Given the description of an element on the screen output the (x, y) to click on. 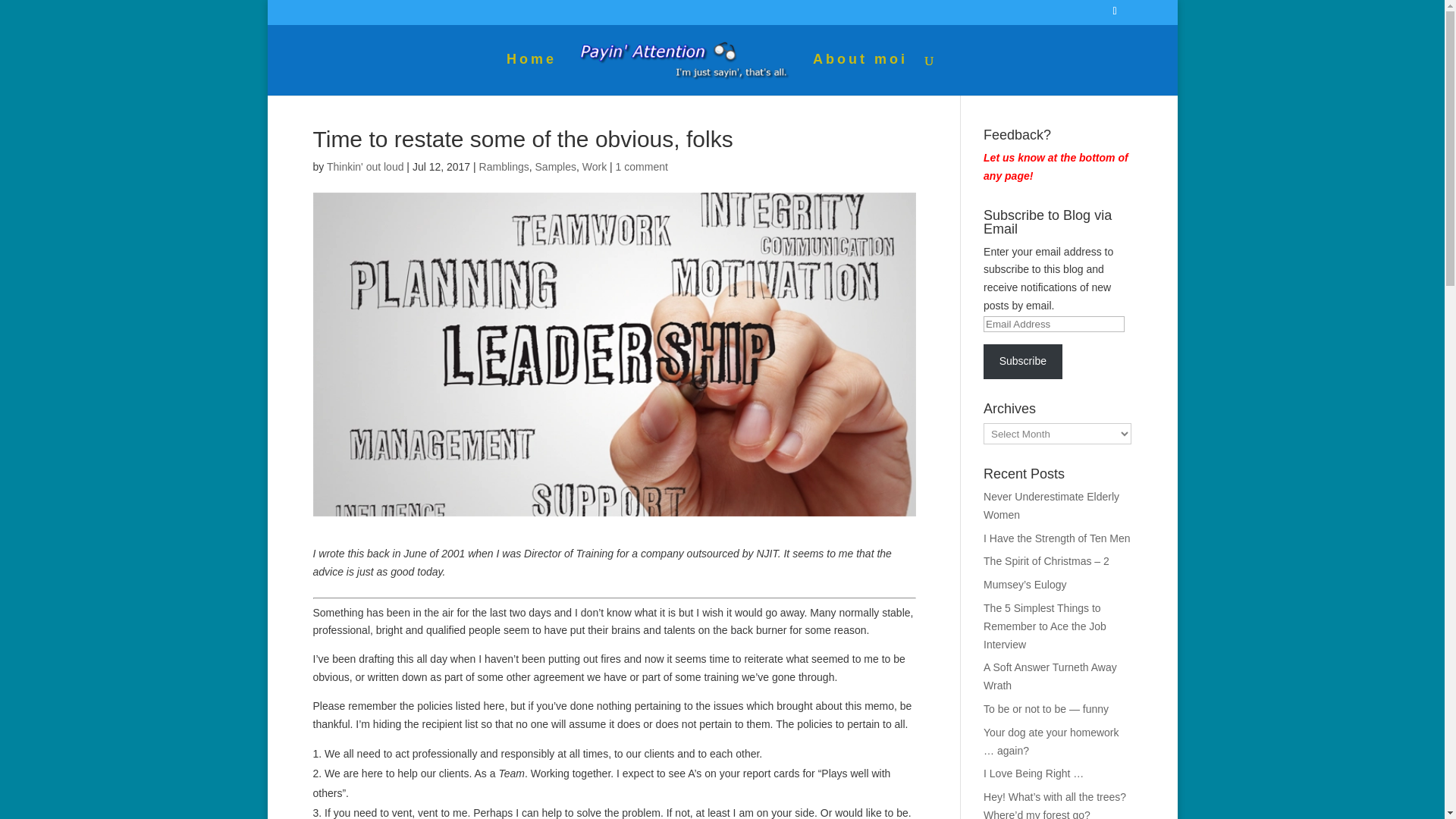
About moi (859, 74)
A Soft Answer Turneth Away Wrath (1050, 675)
Never Underestimate Elderly Women (1051, 505)
Work (594, 166)
Home (531, 74)
I Have the Strength of Ten Men (1057, 538)
1 comment (641, 166)
Samples (555, 166)
Subscribe (1023, 361)
Thinkin' out loud (365, 166)
